Given the description of an element on the screen output the (x, y) to click on. 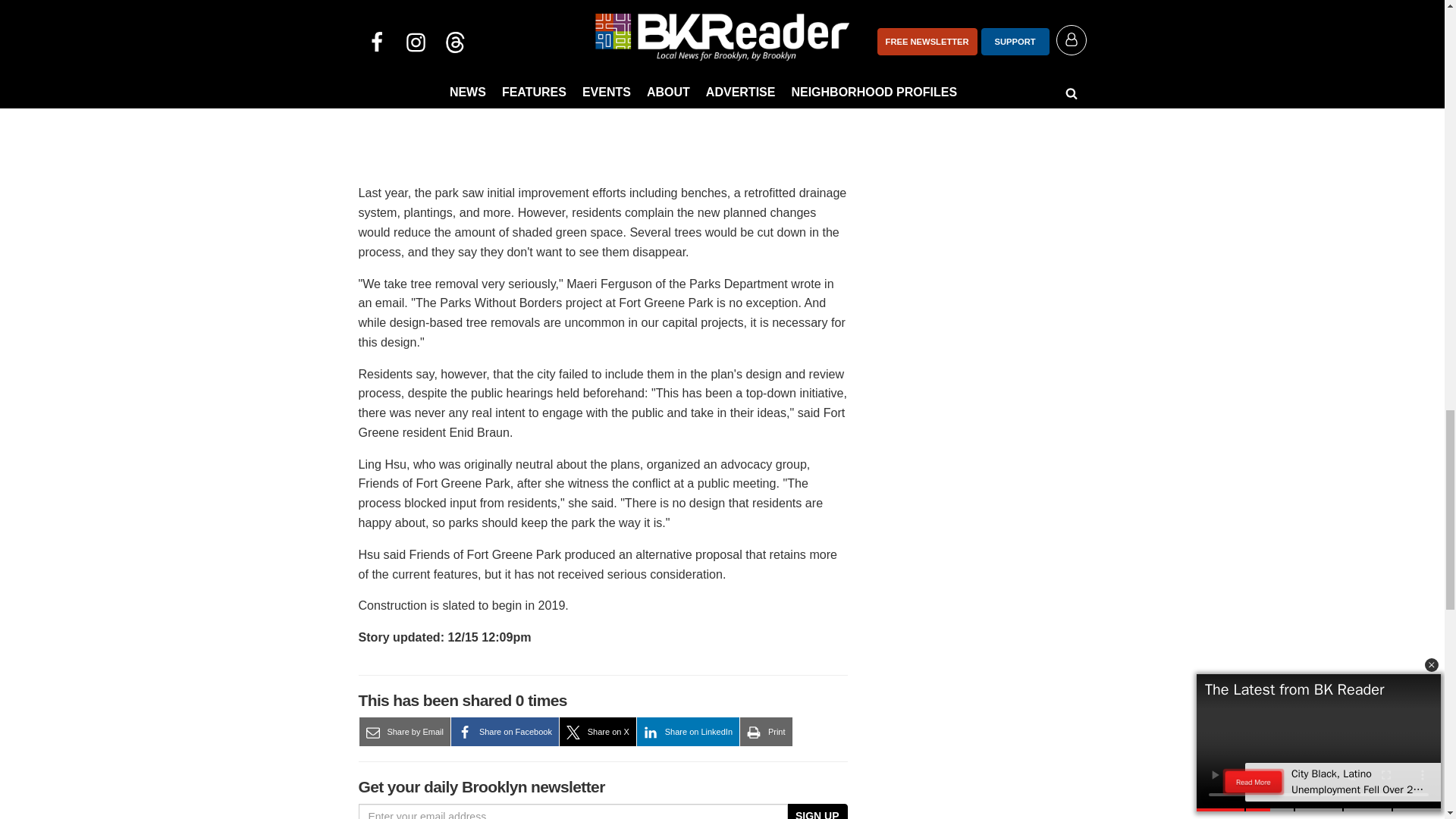
3rd party ad content (972, 55)
